Given the description of an element on the screen output the (x, y) to click on. 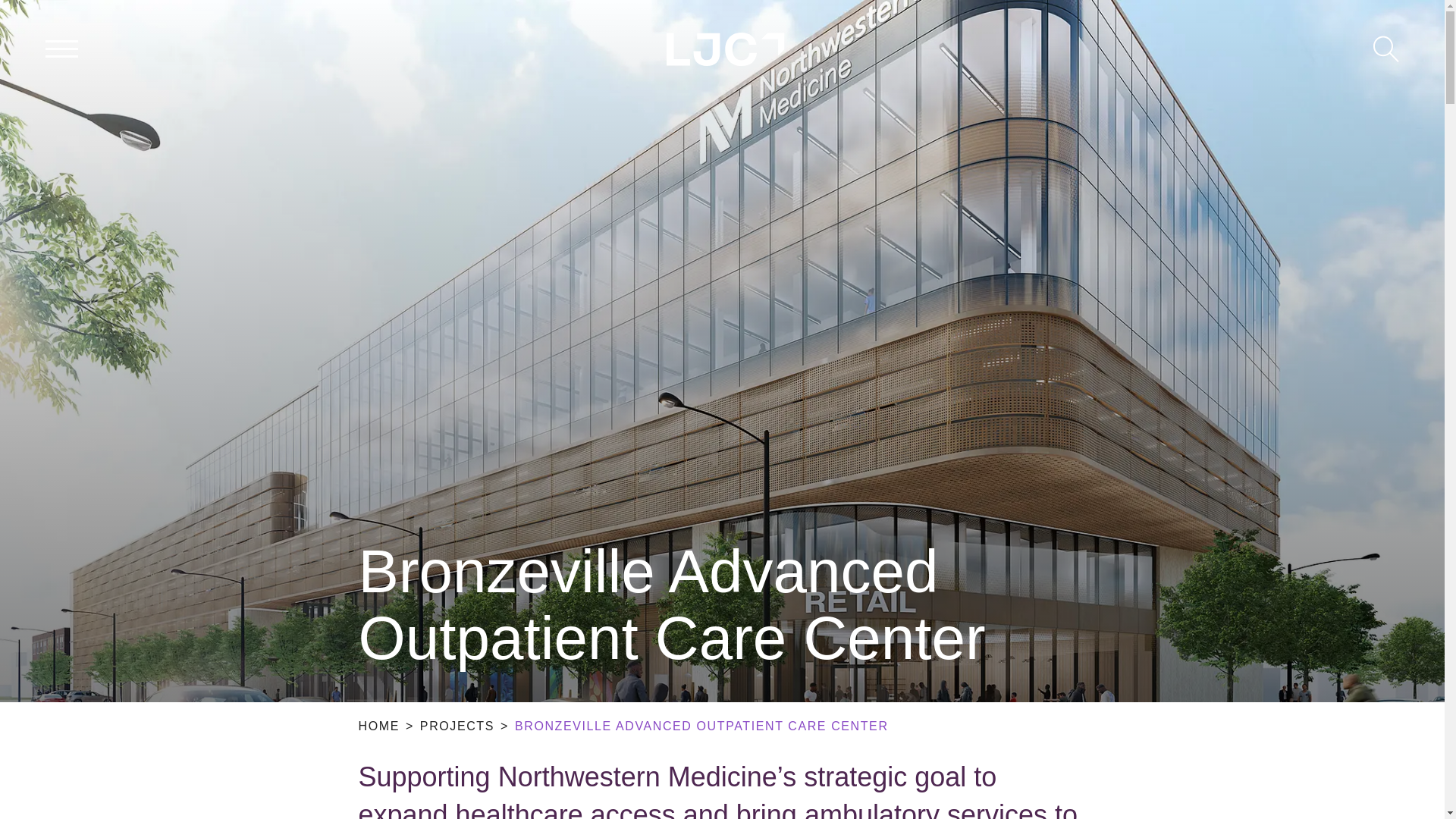
homepage (725, 49)
Search (1386, 49)
